Given the description of an element on the screen output the (x, y) to click on. 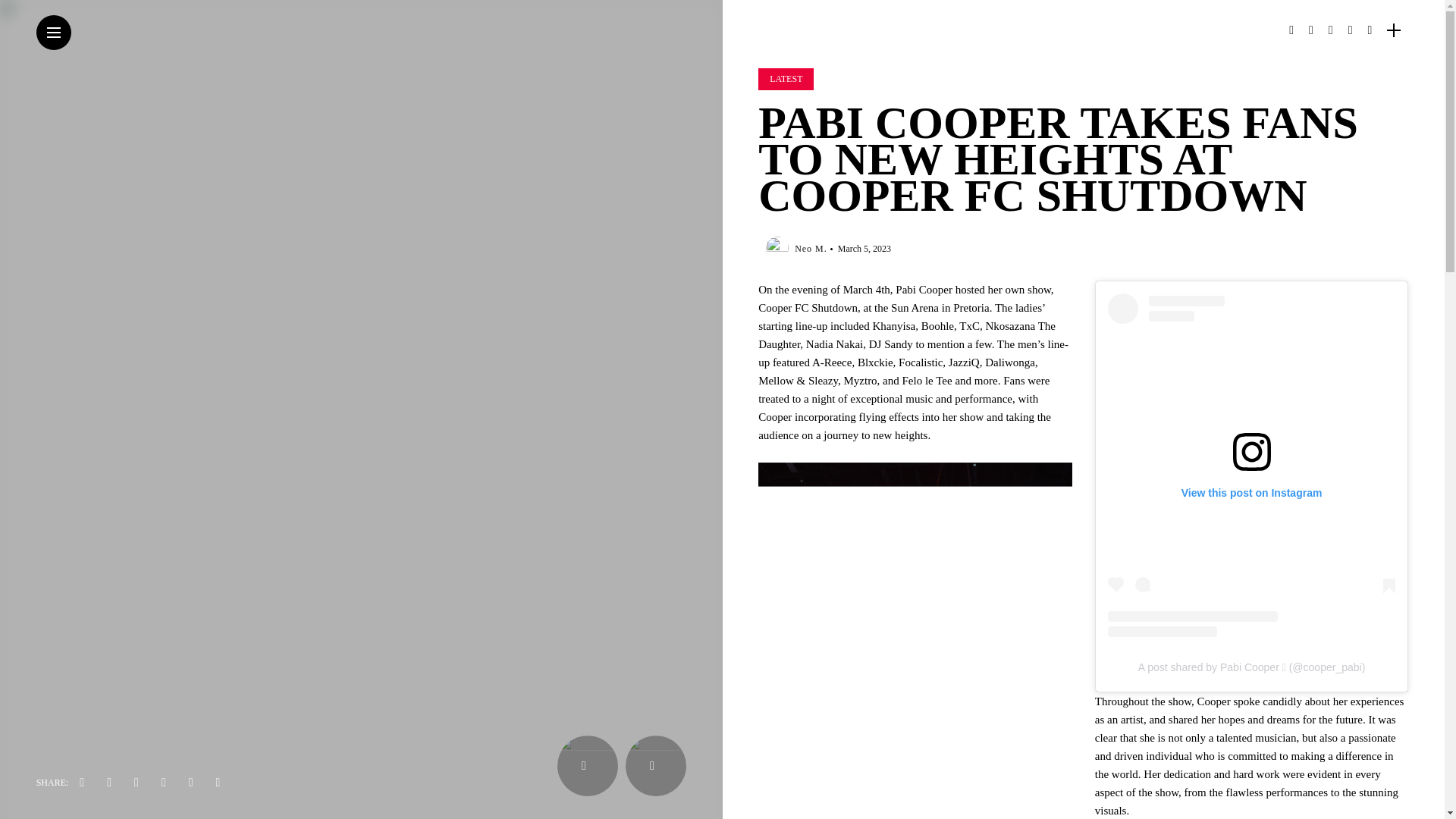
Posts by Neo M. (810, 248)
